Given the description of an element on the screen output the (x, y) to click on. 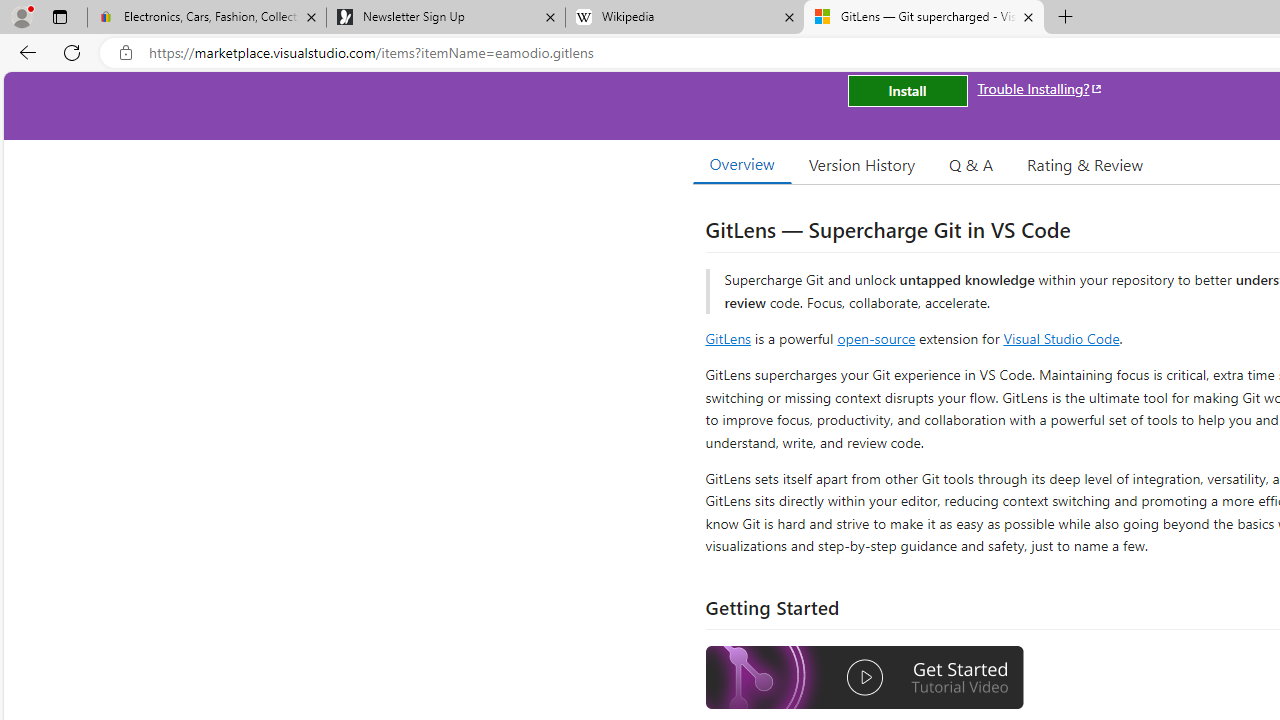
Newsletter Sign Up (445, 17)
GitLens (728, 337)
open-source (876, 337)
Electronics, Cars, Fashion, Collectibles & More | eBay (207, 17)
